Given the description of an element on the screen output the (x, y) to click on. 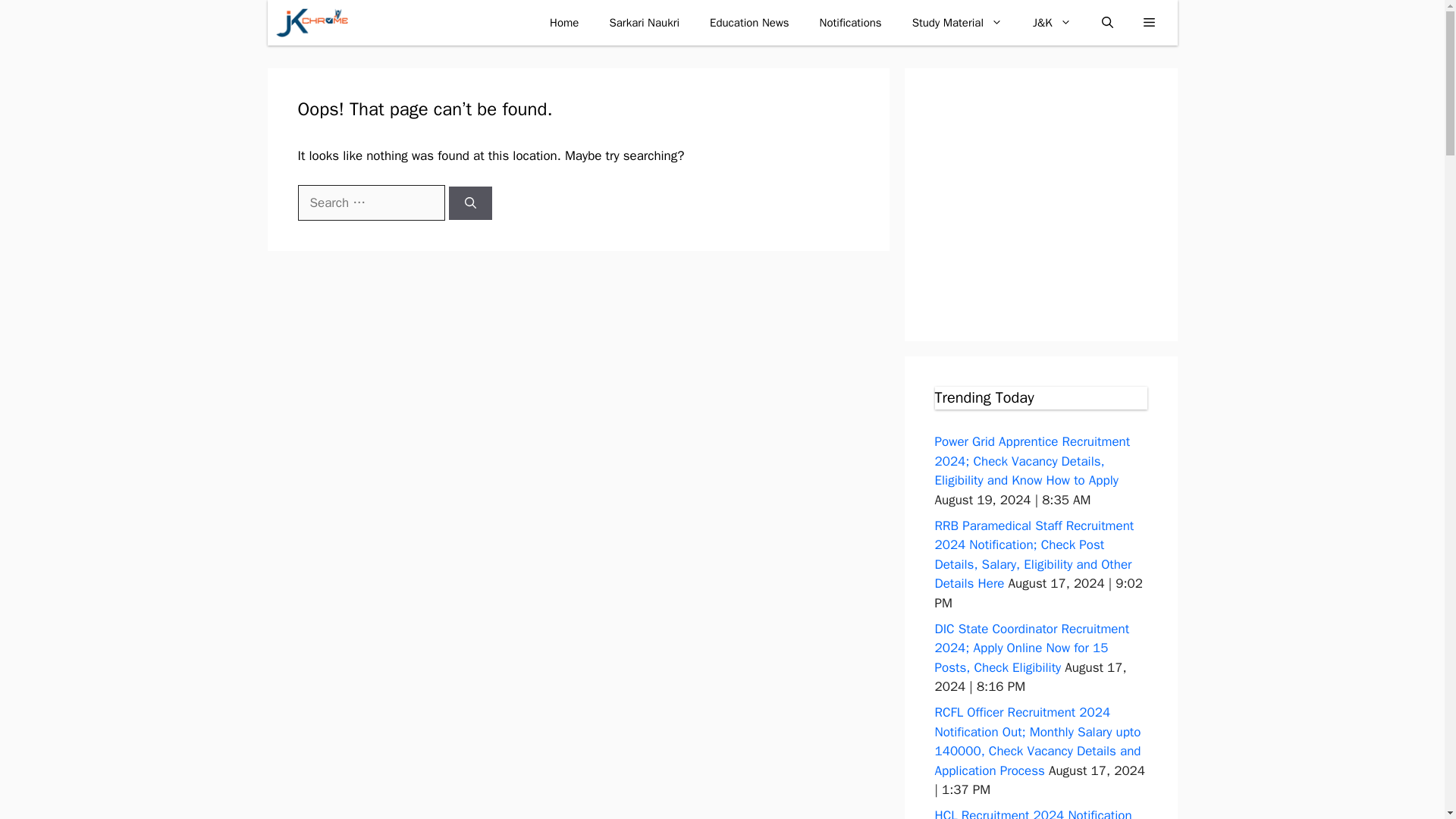
JK Chrome (311, 22)
Advertisement (1071, 204)
Education News (749, 22)
Notifications (850, 22)
Home (564, 22)
Study Material (956, 22)
Sarkari Naukri (644, 22)
Search for: (370, 203)
